Given the description of an element on the screen output the (x, y) to click on. 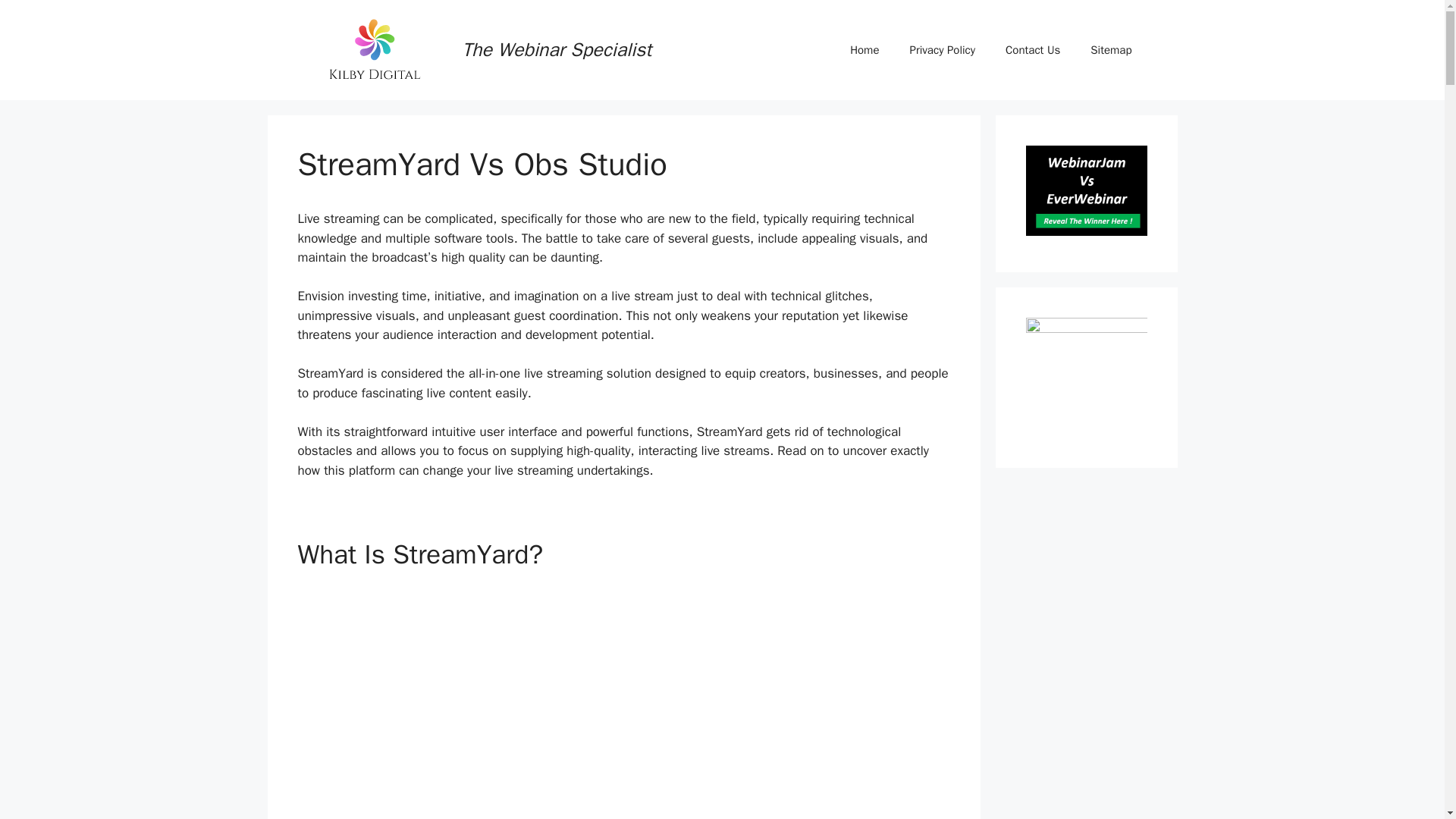
Sitemap (1111, 49)
Contact Us (1032, 49)
Home (863, 49)
Privacy Policy (941, 49)
The Webinar Specialist (557, 49)
